Given the description of an element on the screen output the (x, y) to click on. 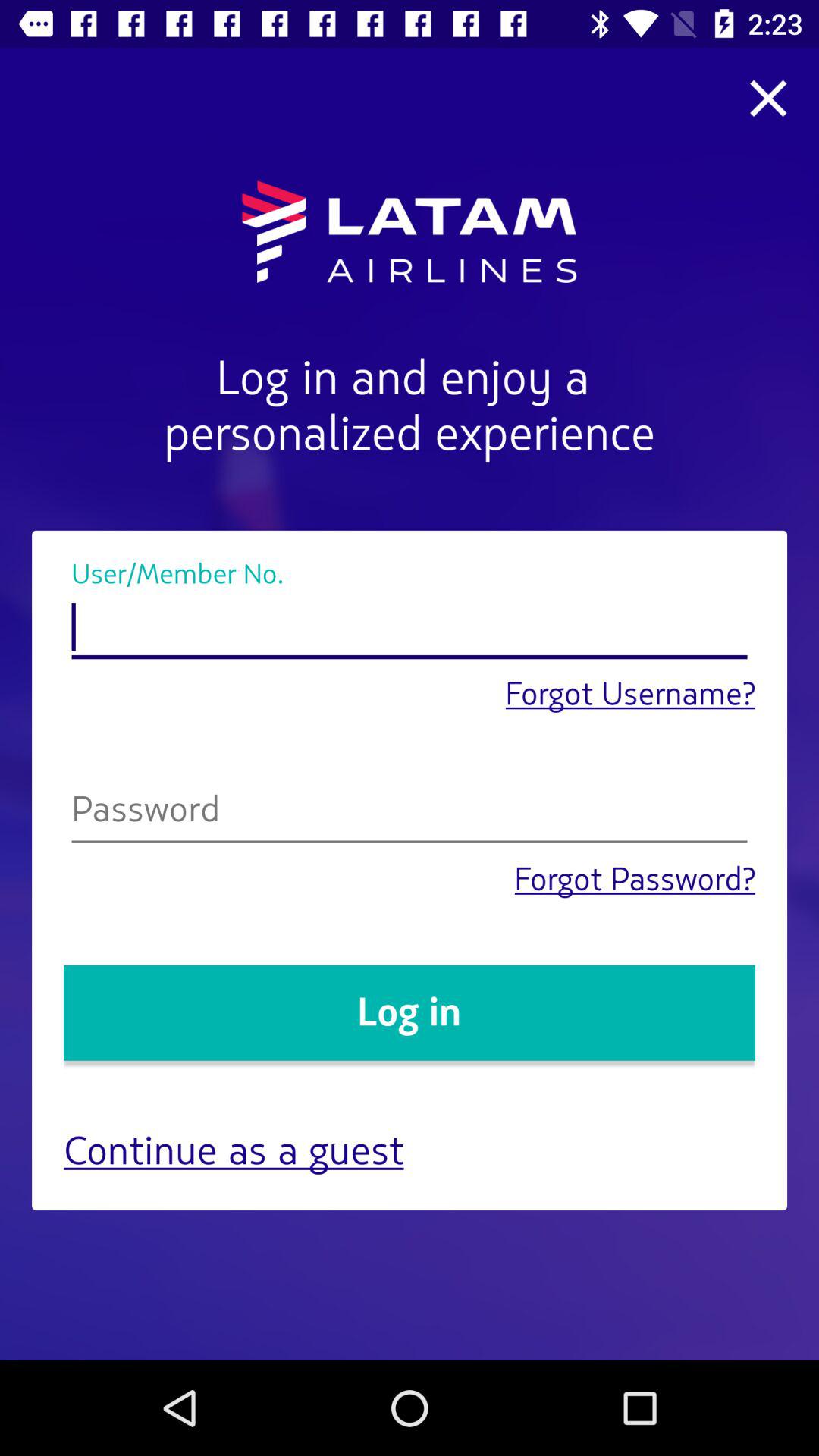
enter password (409, 813)
